Given the description of an element on the screen output the (x, y) to click on. 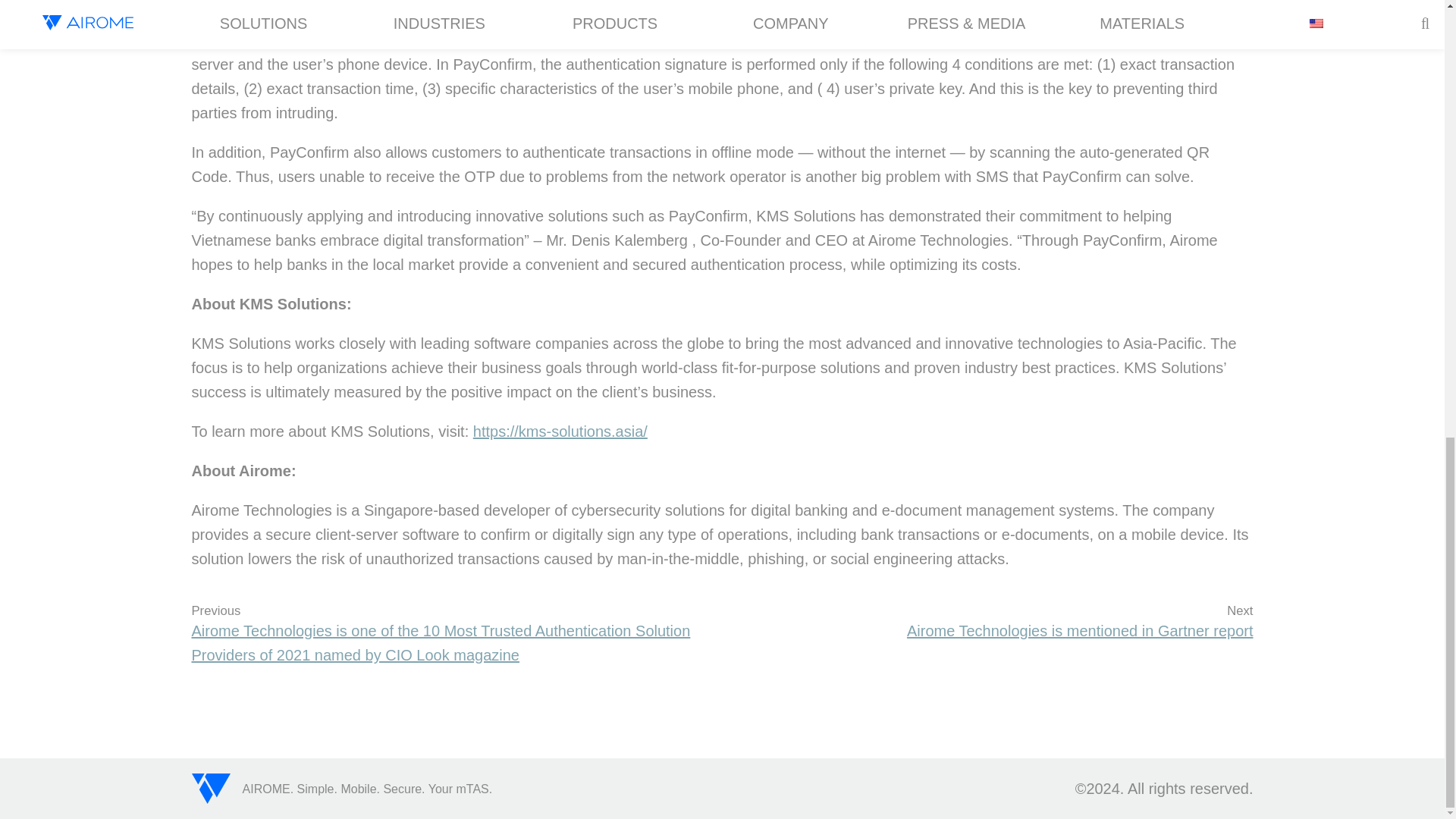
Airome Technologies is mentioned in Gartner report (994, 630)
